Given the description of an element on the screen output the (x, y) to click on. 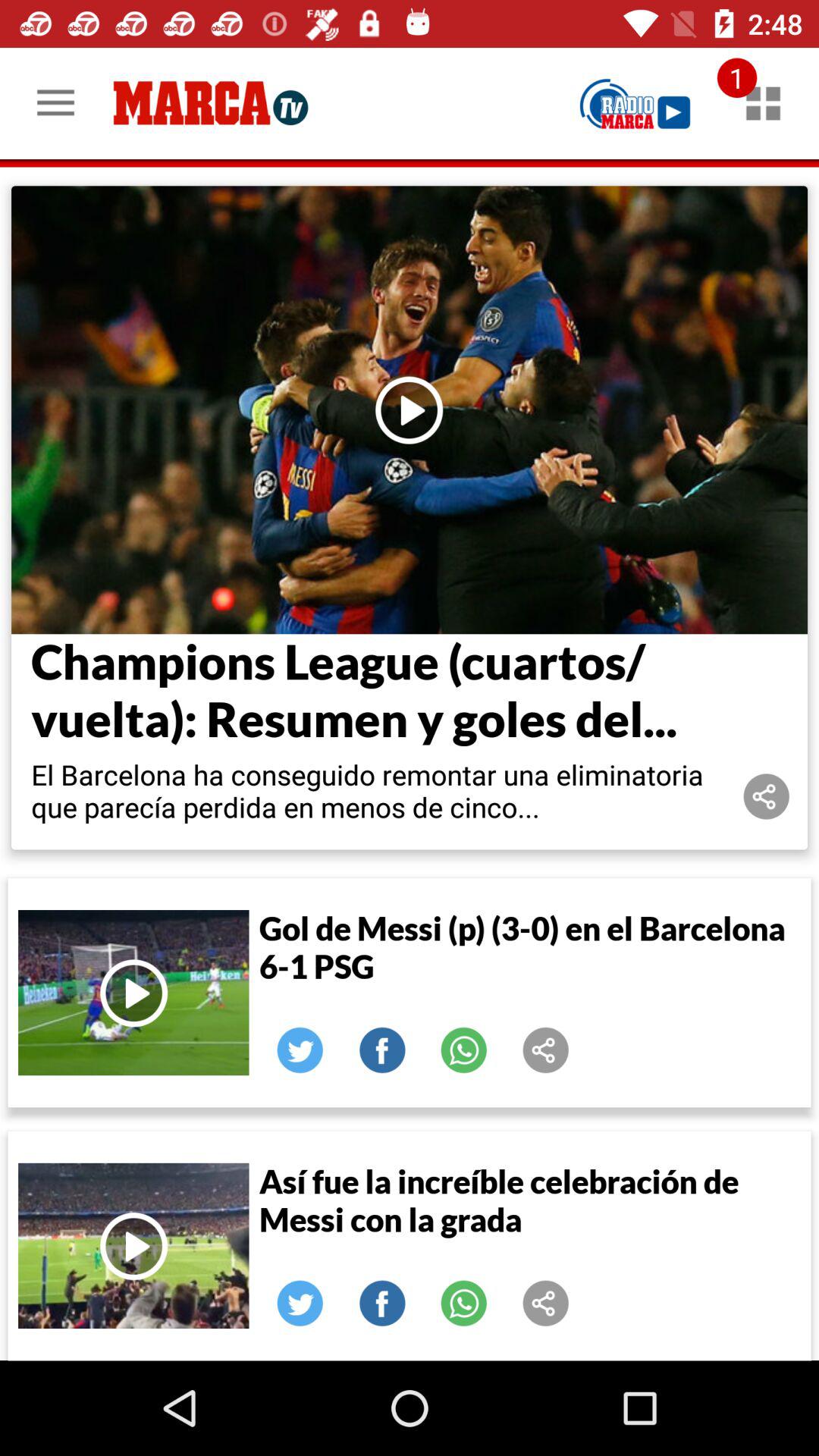
play video (133, 992)
